Given the description of an element on the screen output the (x, y) to click on. 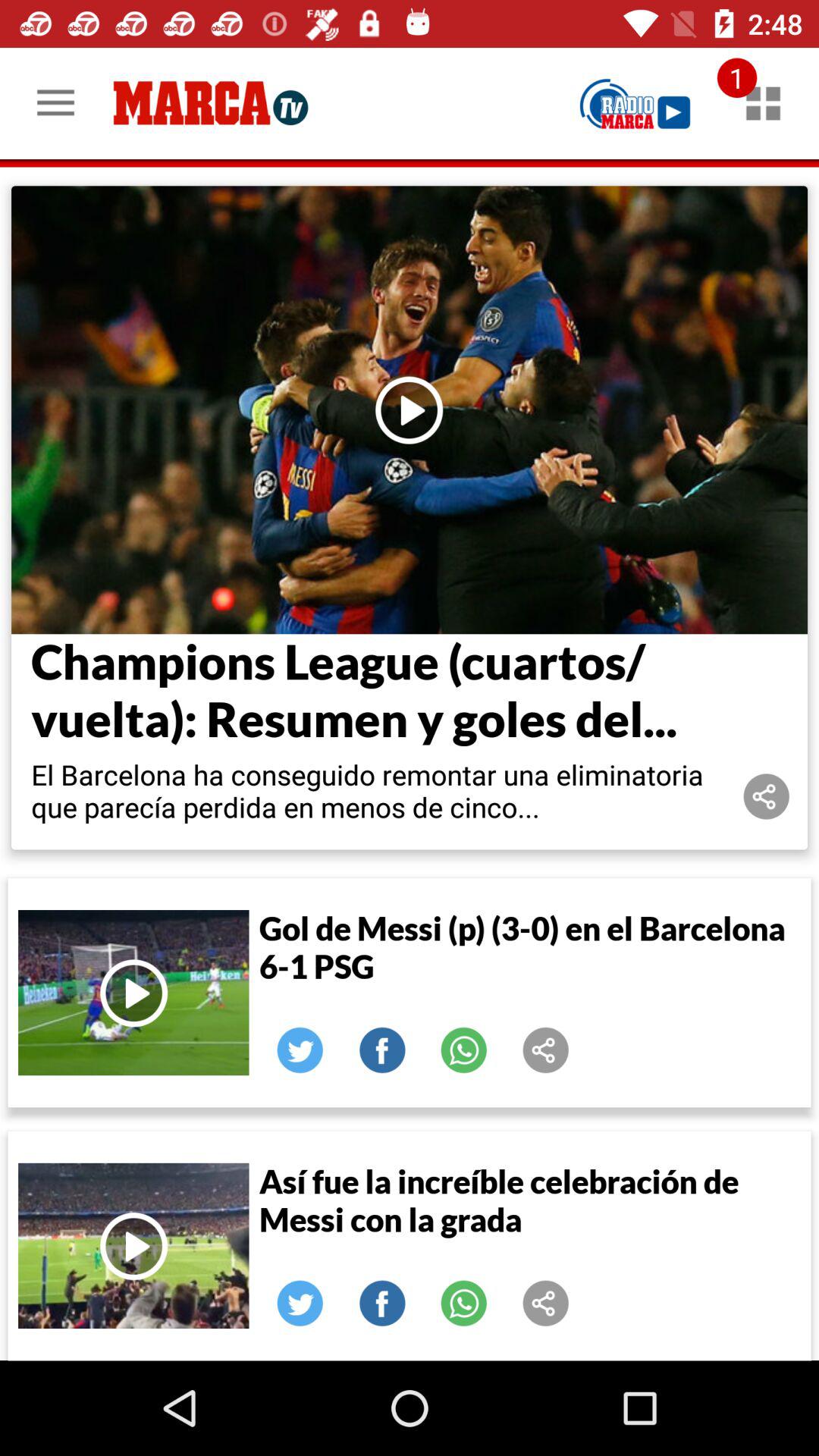
play video (133, 992)
